Given the description of an element on the screen output the (x, y) to click on. 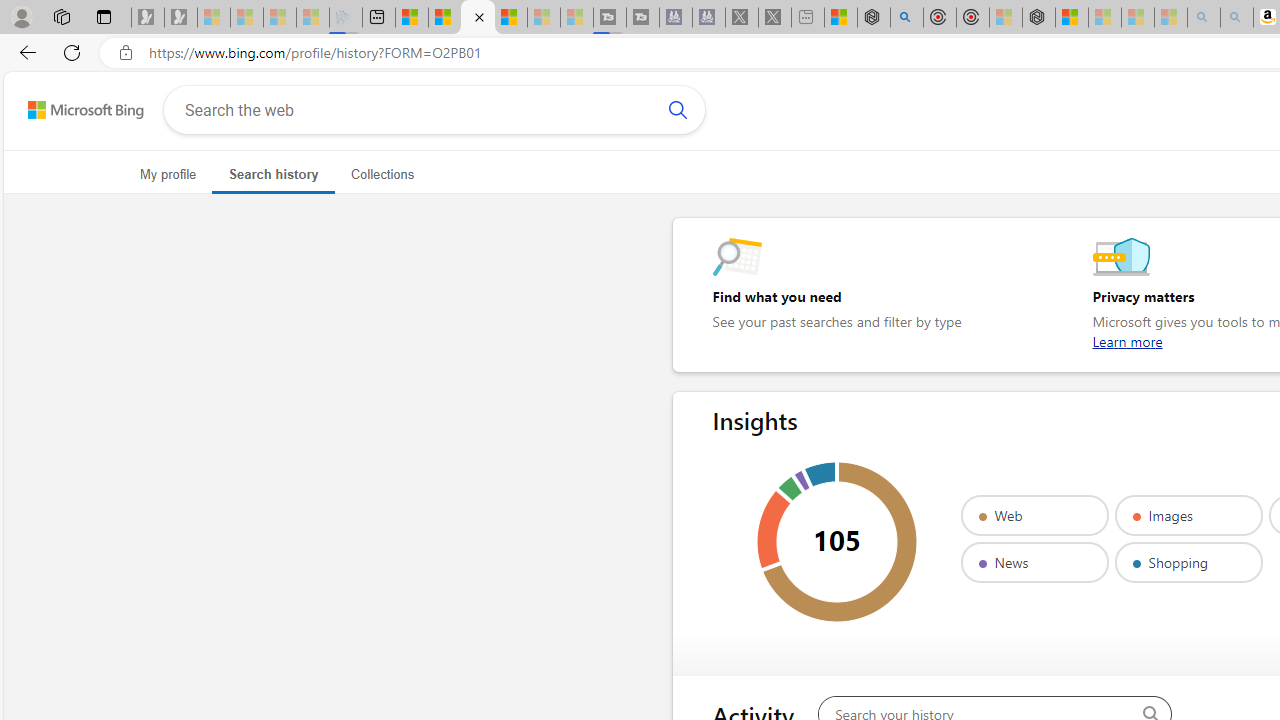
My profile (168, 174)
Learnmore (1127, 341)
Images (1188, 515)
Web (1034, 515)
Class: el_arc partner-images (773, 529)
Class: el_arc partner-videos (789, 488)
